Given the description of an element on the screen output the (x, y) to click on. 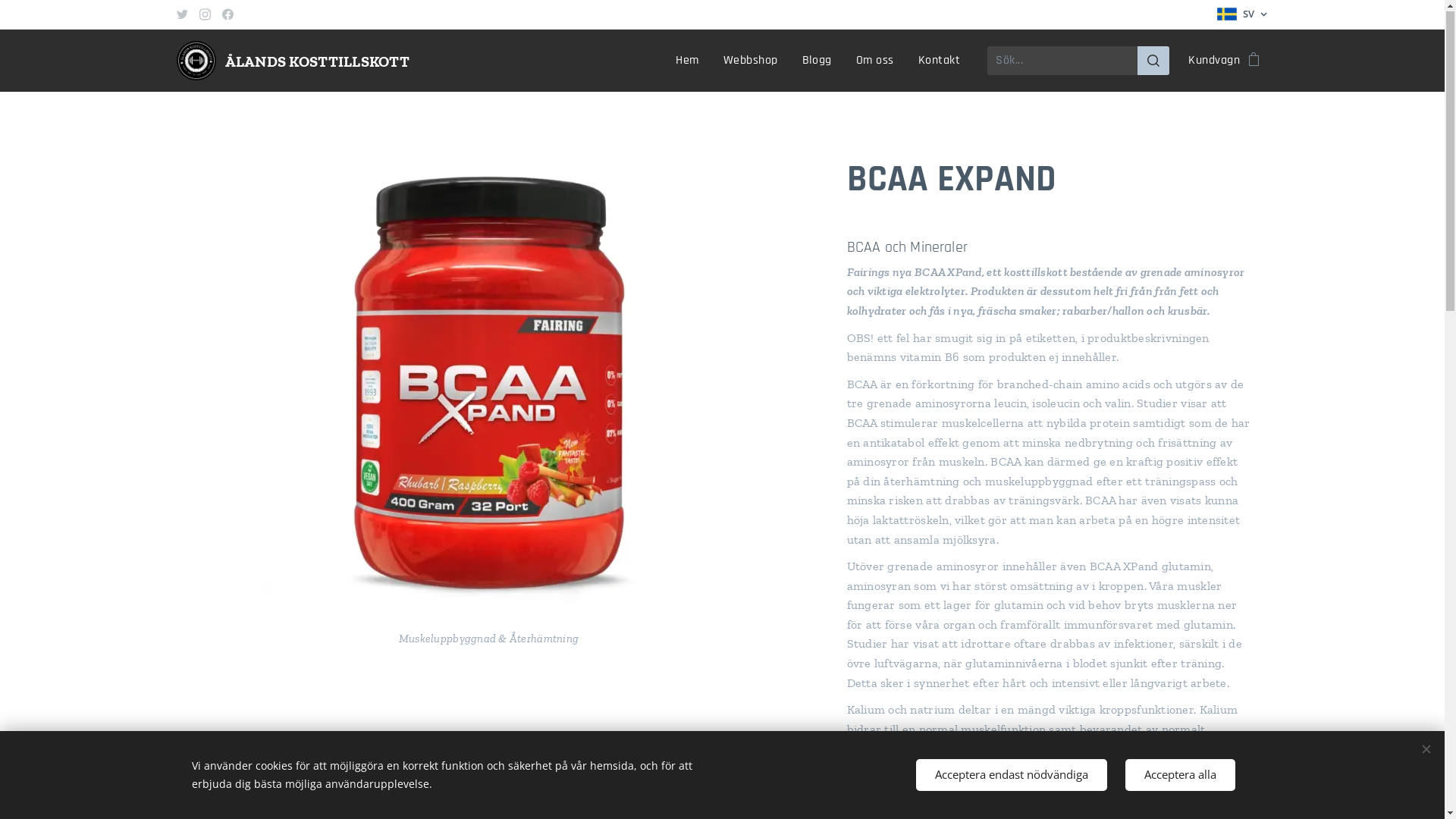
Om oss Element type: text (875, 61)
Hem Element type: text (690, 61)
Kundvagn Element type: text (1218, 61)
Twitter Element type: hover (181, 15)
Instagram Element type: hover (204, 15)
Webbshop Element type: text (750, 61)
Facebook Element type: hover (227, 15)
Blogg Element type: text (817, 61)
Acceptera alla Element type: text (1180, 774)
Kontakt Element type: text (939, 61)
